Given the description of an element on the screen output the (x, y) to click on. 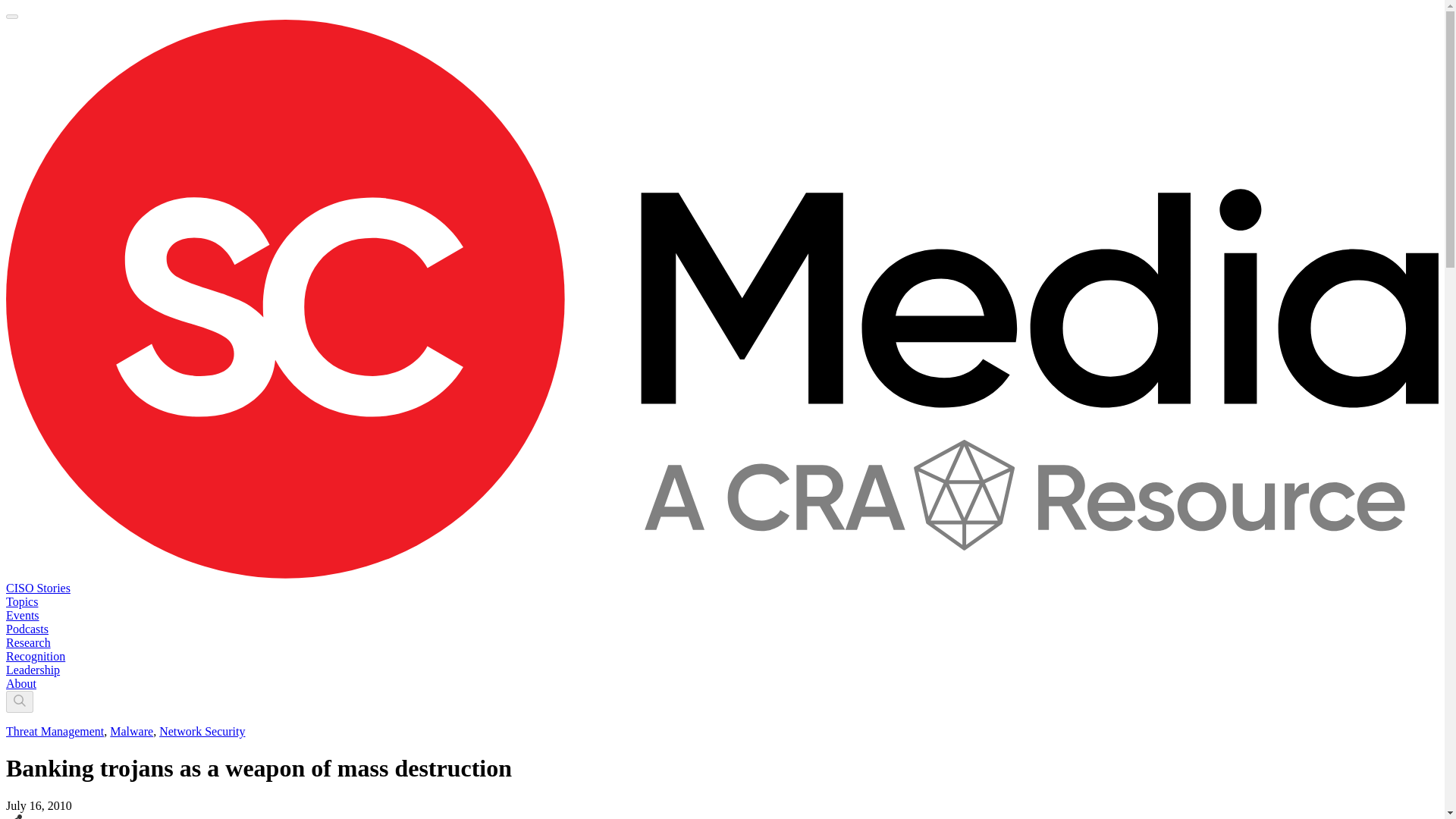
Podcasts (26, 628)
Threat Management (54, 730)
Research (27, 642)
About (20, 683)
Malware (131, 730)
Recognition (35, 656)
Events (22, 615)
Leadership (32, 669)
Topics (21, 601)
CISO Stories (37, 587)
Network Security (201, 730)
